Given the description of an element on the screen output the (x, y) to click on. 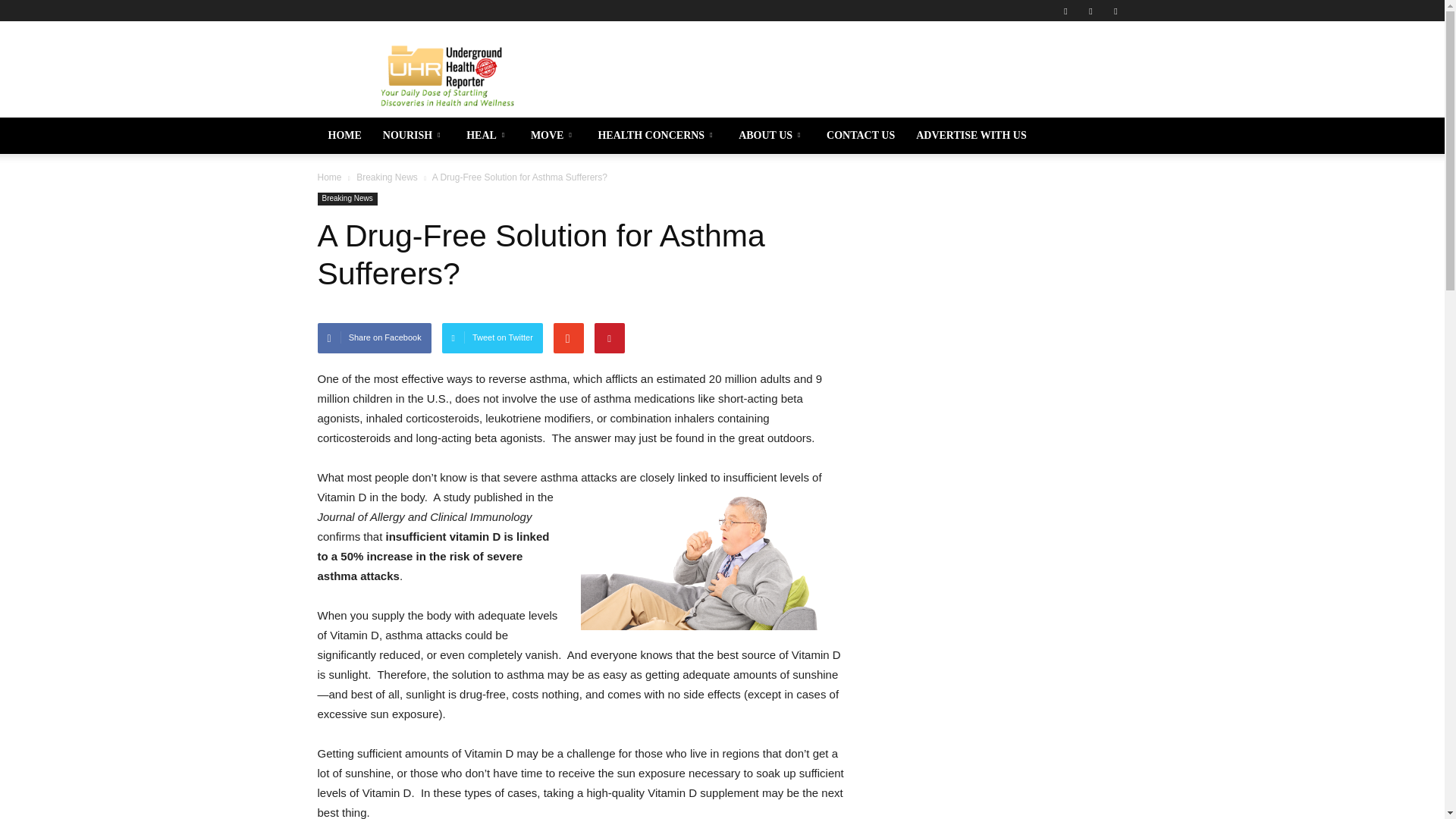
Instagram (1090, 10)
Youtube (1114, 10)
Advertisement (850, 76)
Facebook (1065, 10)
View all posts in Breaking News (386, 176)
